Given the description of an element on the screen output the (x, y) to click on. 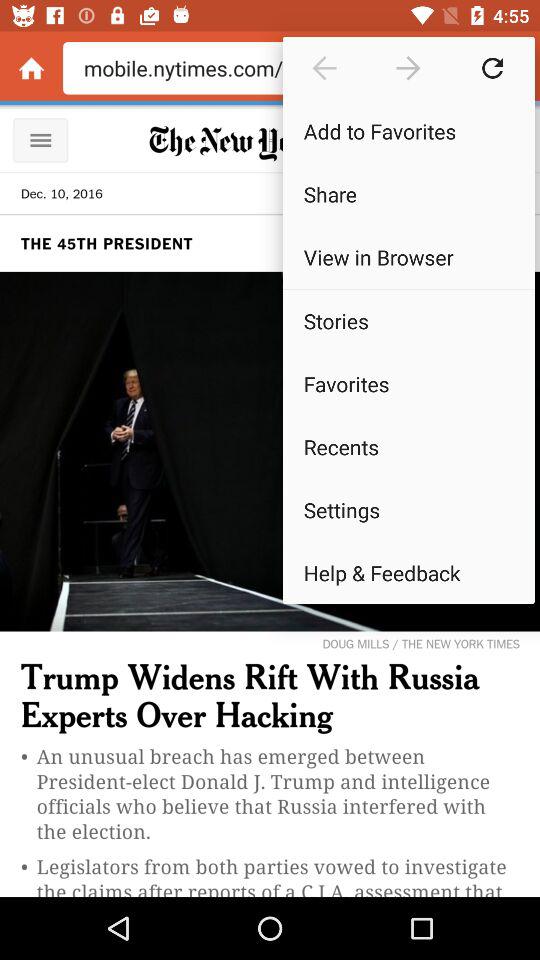
choose the item above add to favorites (492, 67)
